Given the description of an element on the screen output the (x, y) to click on. 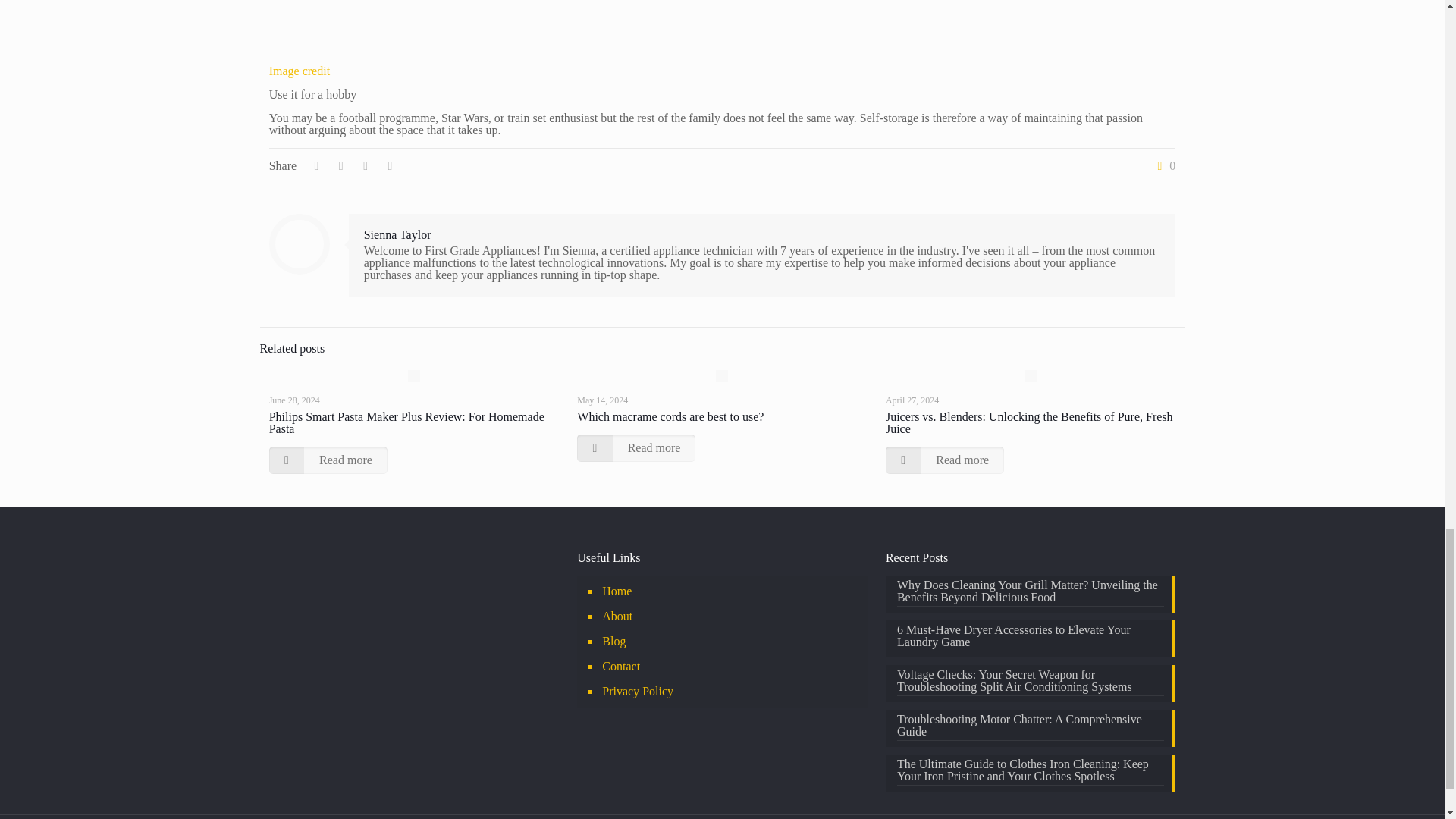
0 (1162, 165)
Which macrame cords are best to use? (669, 416)
Sienna Taylor (397, 234)
Read more (328, 460)
Image credit (299, 70)
Philips Smart Pasta Maker Plus Review: For Homemade Pasta (406, 422)
Read more (635, 447)
